Given the description of an element on the screen output the (x, y) to click on. 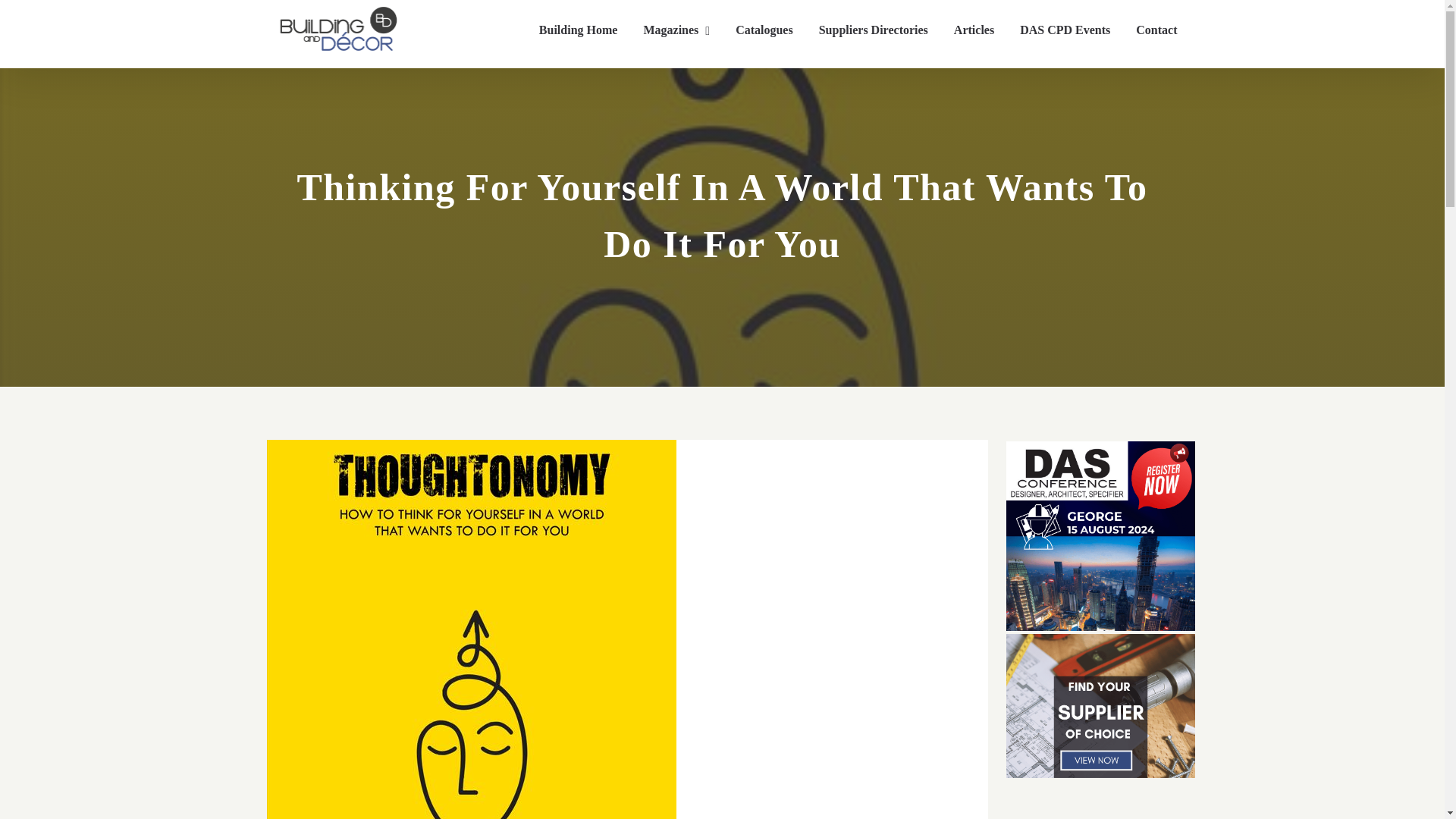
DAS CPD Events (1064, 30)
Suppliers Directories (873, 30)
Building Home (577, 30)
Catalogues (764, 30)
Magazines (676, 30)
